Given the description of an element on the screen output the (x, y) to click on. 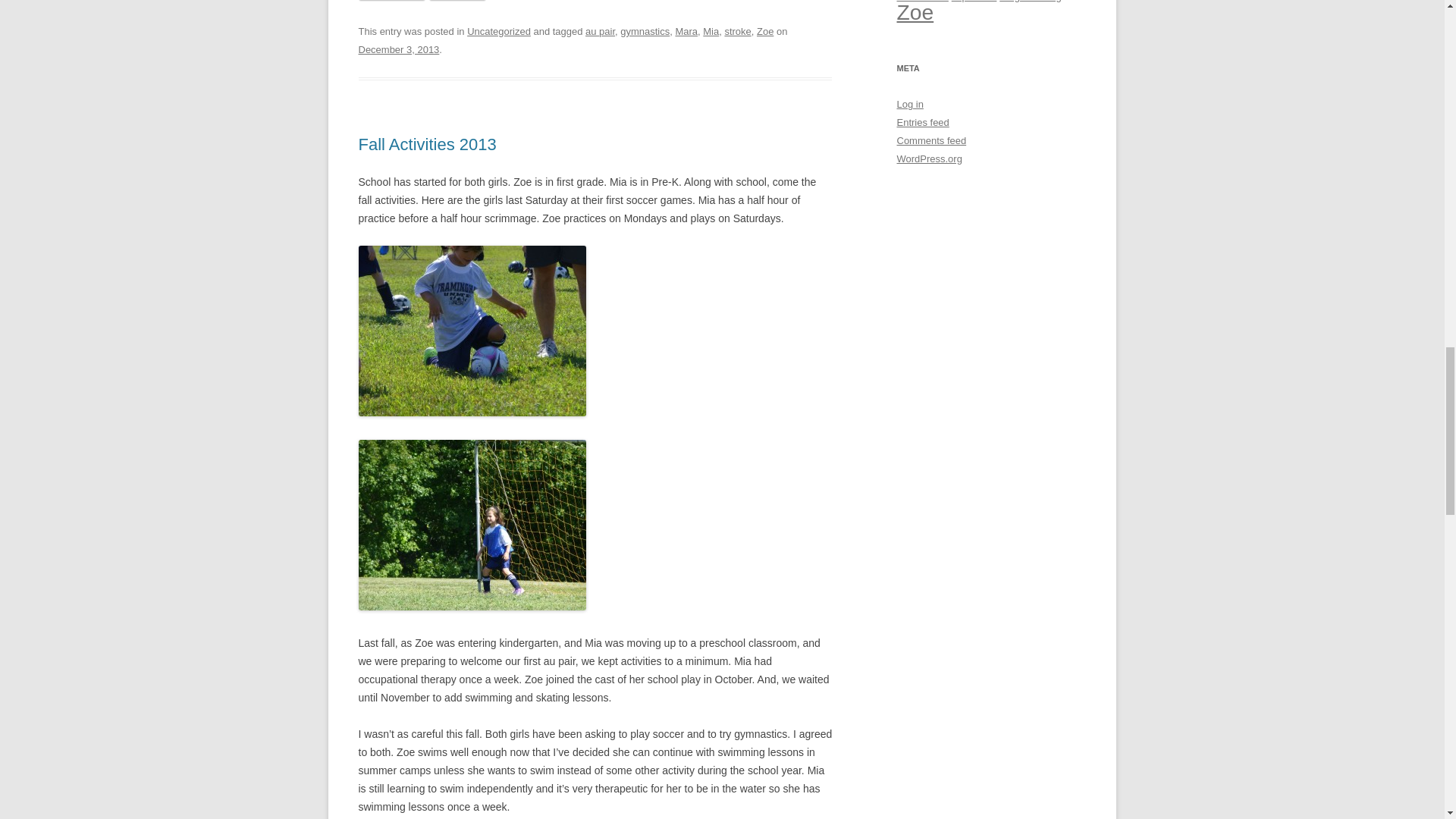
gymnastics (644, 30)
Facebook (391, 0)
Click to share on Facebook (391, 0)
Mara (686, 30)
Mia (711, 30)
Google (457, 0)
stroke (737, 30)
au pair (599, 30)
December 3, 2013 (398, 49)
9:37 pm (398, 49)
